Given the description of an element on the screen output the (x, y) to click on. 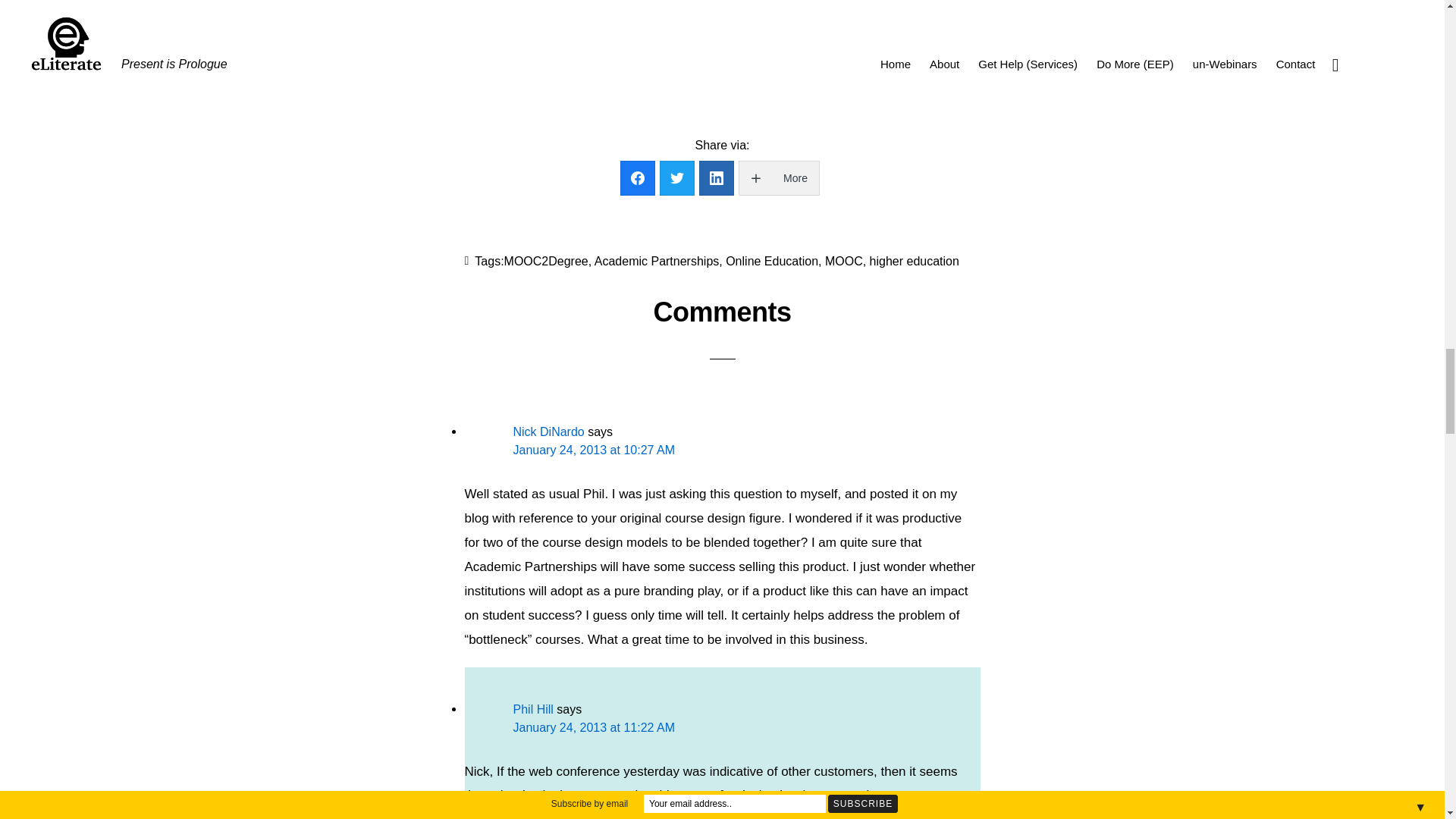
MOOC2Degree (545, 260)
More (778, 177)
Academic Partnerships (656, 260)
